Given the description of an element on the screen output the (x, y) to click on. 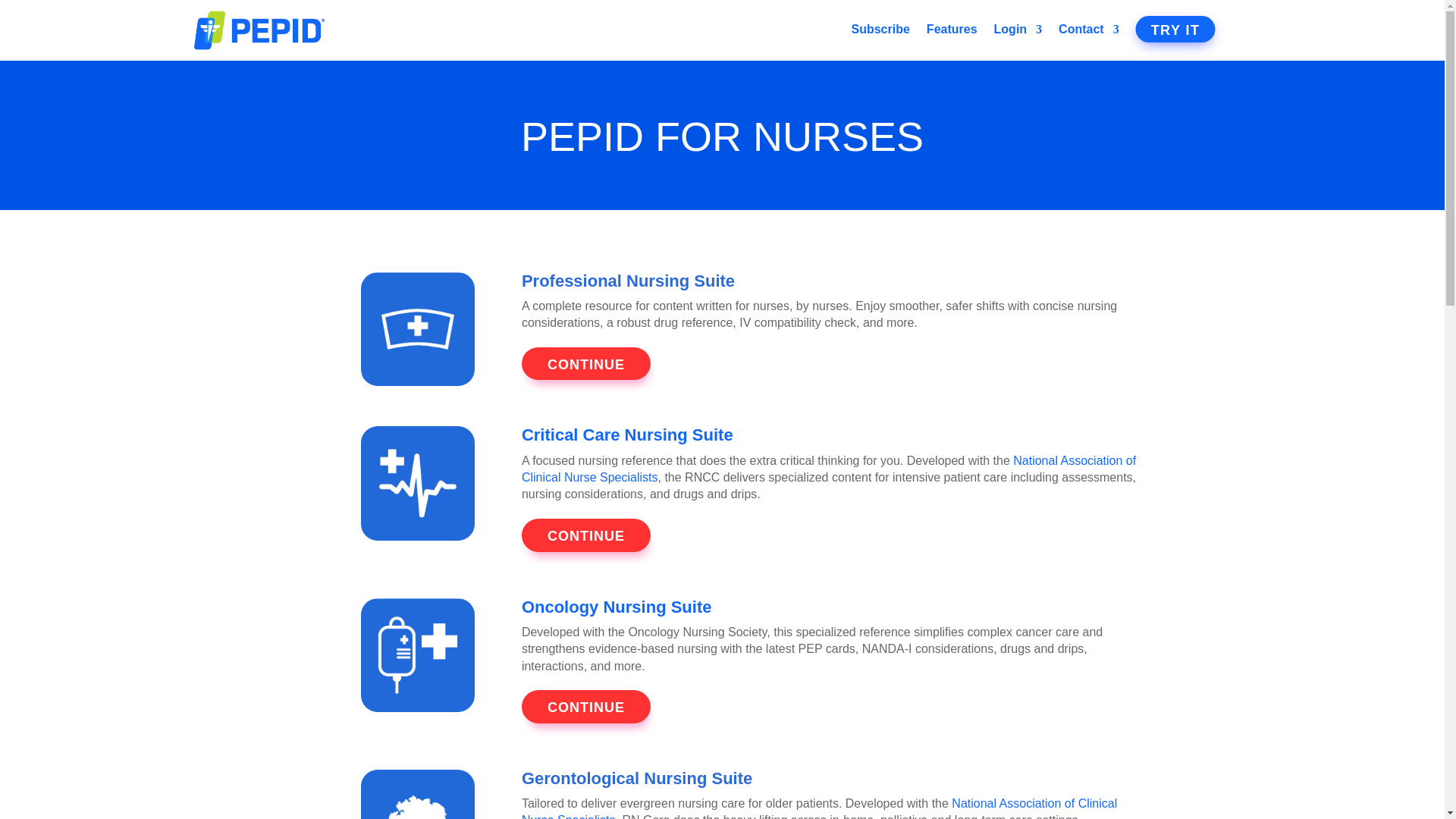
Subscribe (879, 33)
TRY IT (1175, 28)
CONTINUE (585, 535)
CONTINUE (585, 363)
CONTINUE (585, 706)
Features (951, 33)
Contact (1088, 33)
Login (1018, 33)
National Association of Clinical Nurse Specialists (828, 469)
National Association of Clinical Nurse Specialists (818, 807)
